Given the description of an element on the screen output the (x, y) to click on. 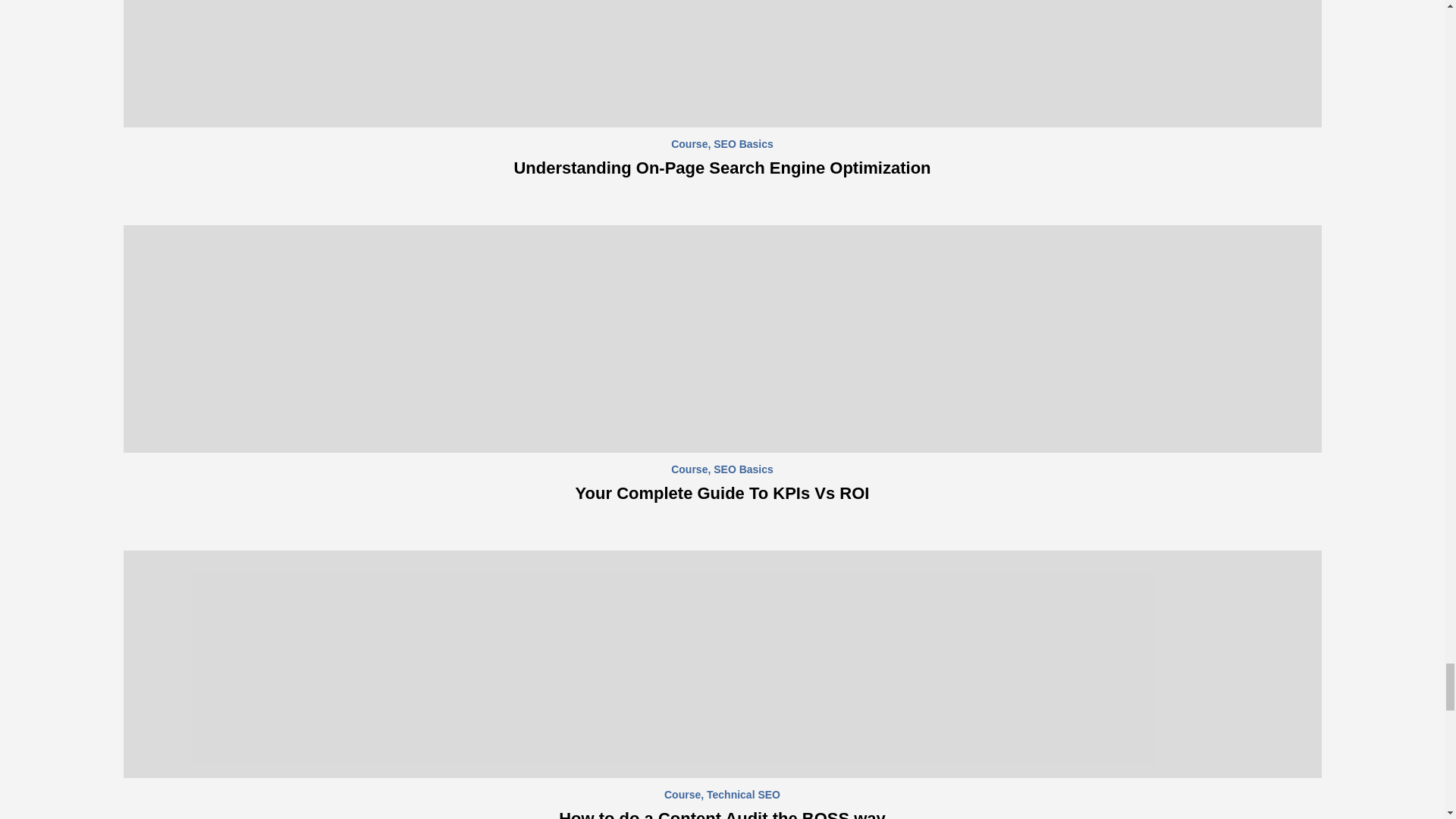
How to do a Content Audit the BOSS way (722, 814)
Understanding On-Page Search Engine Optimization (721, 167)
Your Complete Guide To KPIs Vs ROI (722, 493)
